Given the description of an element on the screen output the (x, y) to click on. 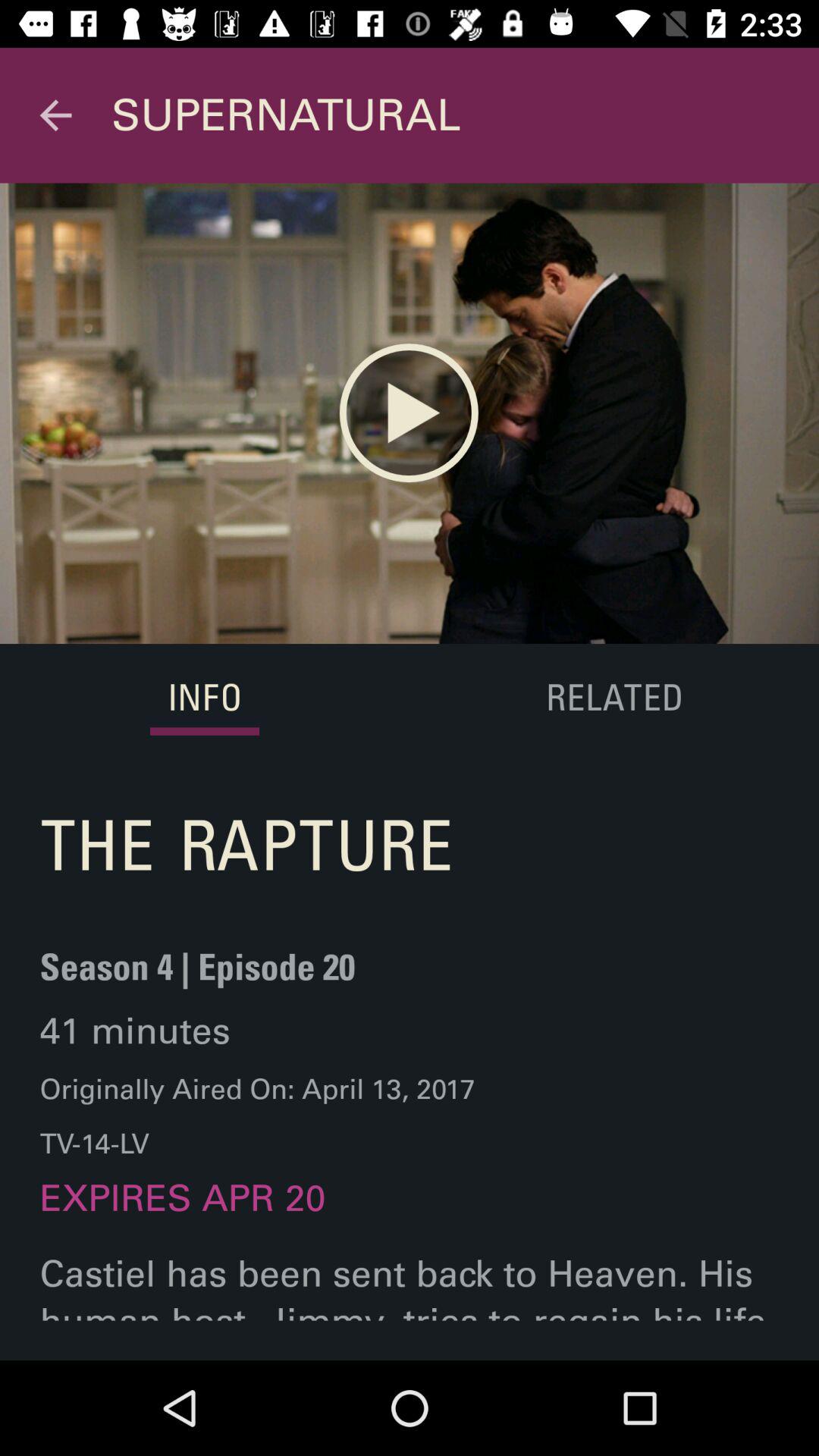
choose the item above the the rapture icon (204, 699)
